Given the description of an element on the screen output the (x, y) to click on. 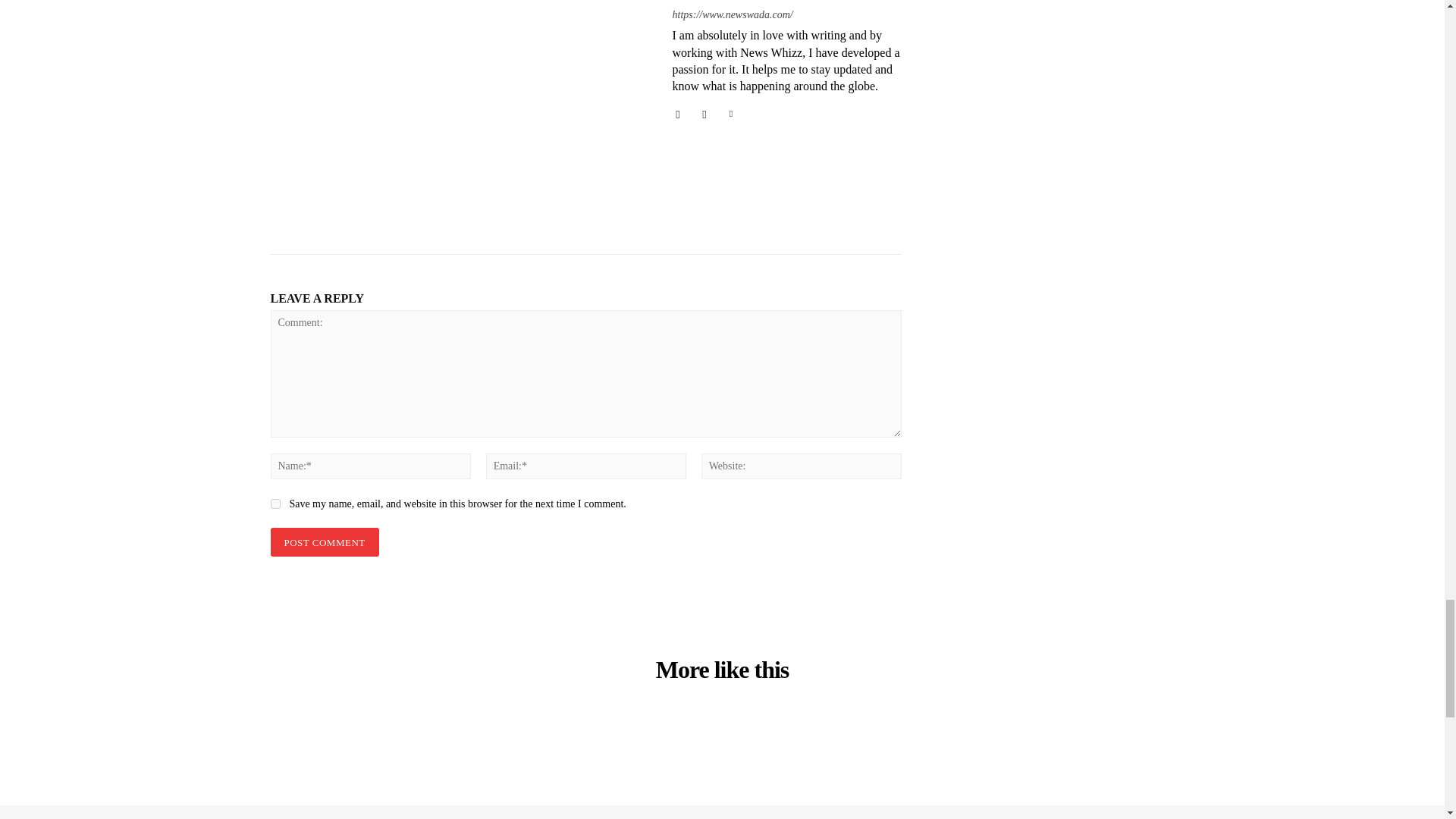
Post Comment (323, 542)
facebook (676, 111)
yes (274, 503)
Radhe Gupta (459, 119)
twitter (730, 111)
instagram (704, 111)
